Given the description of an element on the screen output the (x, y) to click on. 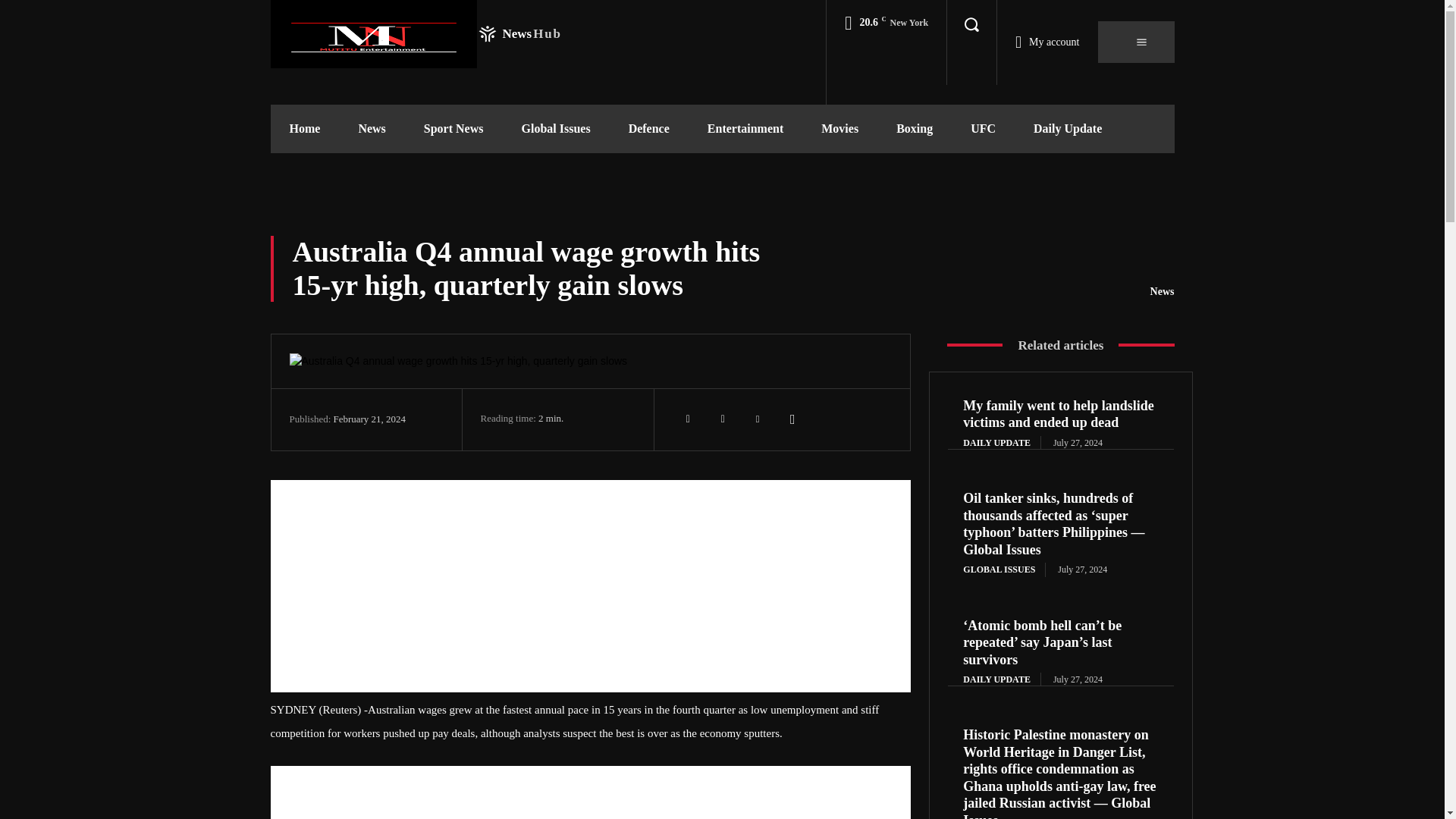
Home (304, 128)
News (371, 128)
Global Issues (555, 128)
Sport News (453, 128)
Facebook (687, 419)
